Given the description of an element on the screen output the (x, y) to click on. 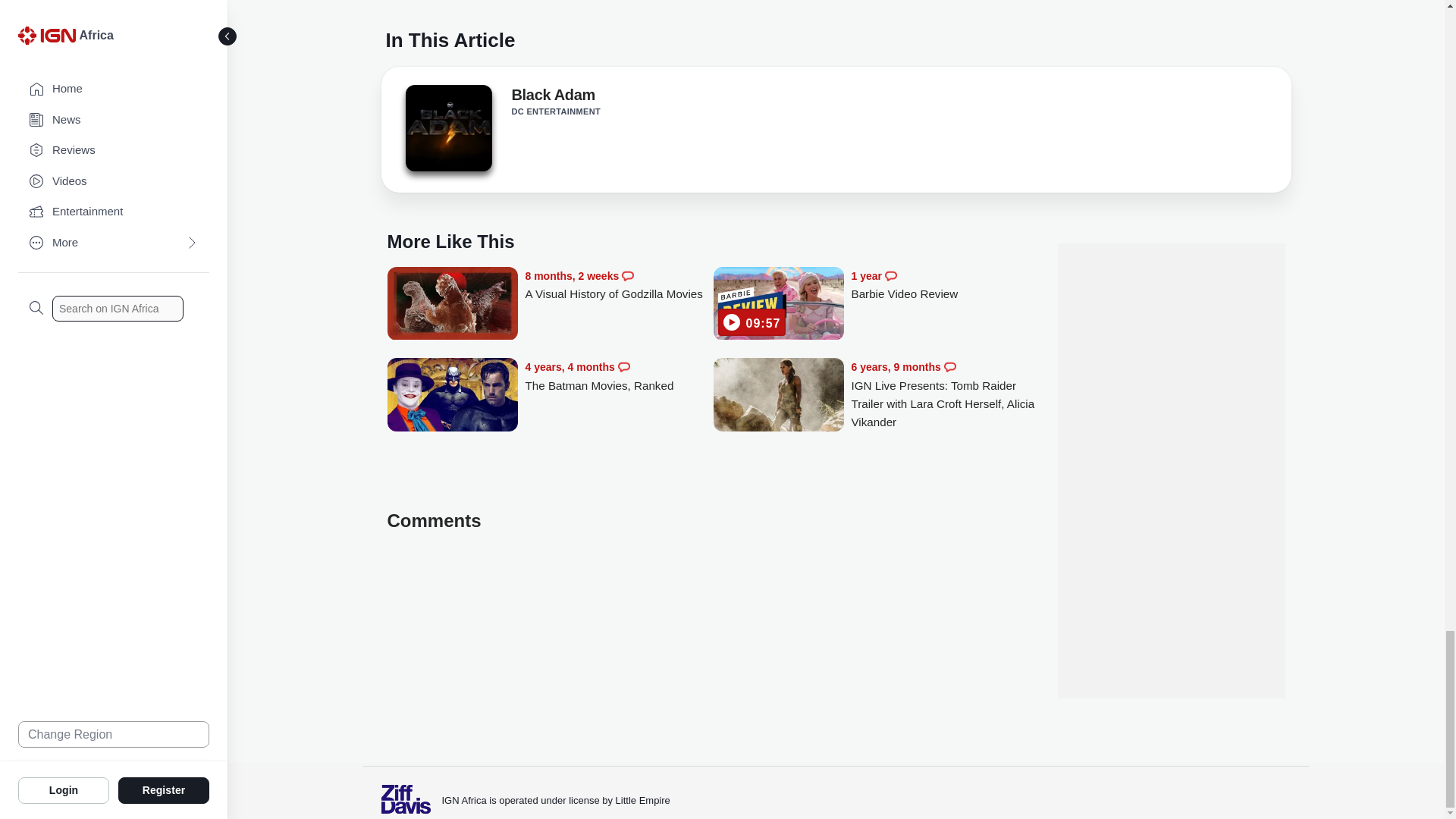
Comments (623, 367)
The Batman Movies, Ranked (451, 395)
The Batman Movies, Ranked (618, 375)
Black Adam (448, 132)
Barbie Video Review (944, 284)
Black Adam (448, 128)
A Visual History of Godzilla Movies (451, 304)
A Visual History of Godzilla Movies (618, 284)
Comments (627, 275)
Comments (890, 275)
Black Adam (552, 97)
Comments (949, 367)
Barbie Video Review (778, 304)
